Given the description of an element on the screen output the (x, y) to click on. 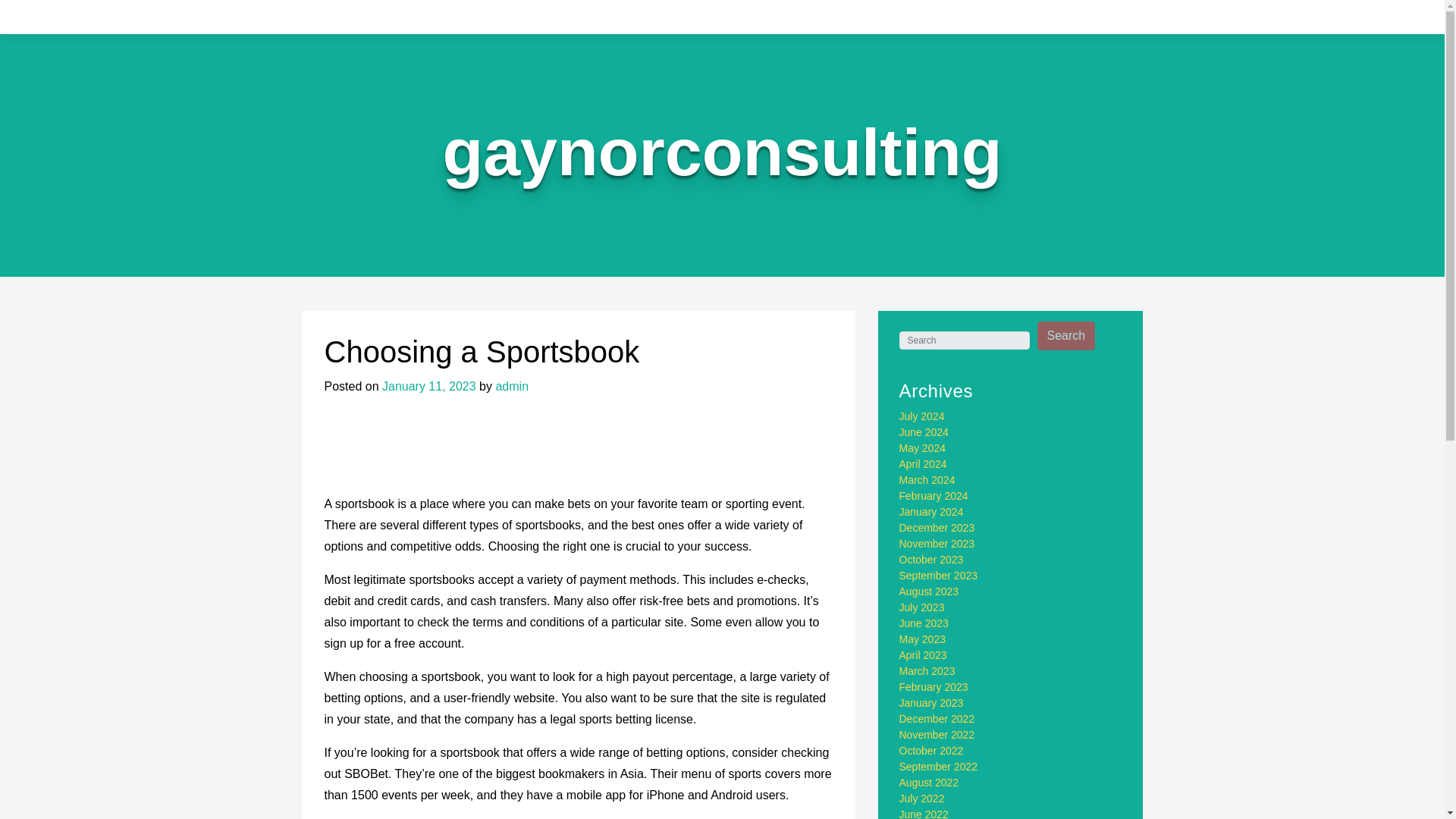
Search (1066, 335)
September 2023 (938, 575)
December 2023 (937, 527)
June 2022 (924, 813)
January 2023 (931, 702)
January 2024 (931, 511)
May 2023 (921, 639)
August 2022 (929, 782)
November 2022 (937, 734)
October 2023 (931, 559)
July 2024 (921, 416)
March 2024 (927, 480)
November 2023 (937, 543)
March 2023 (927, 671)
December 2022 (937, 718)
